Given the description of an element on the screen output the (x, y) to click on. 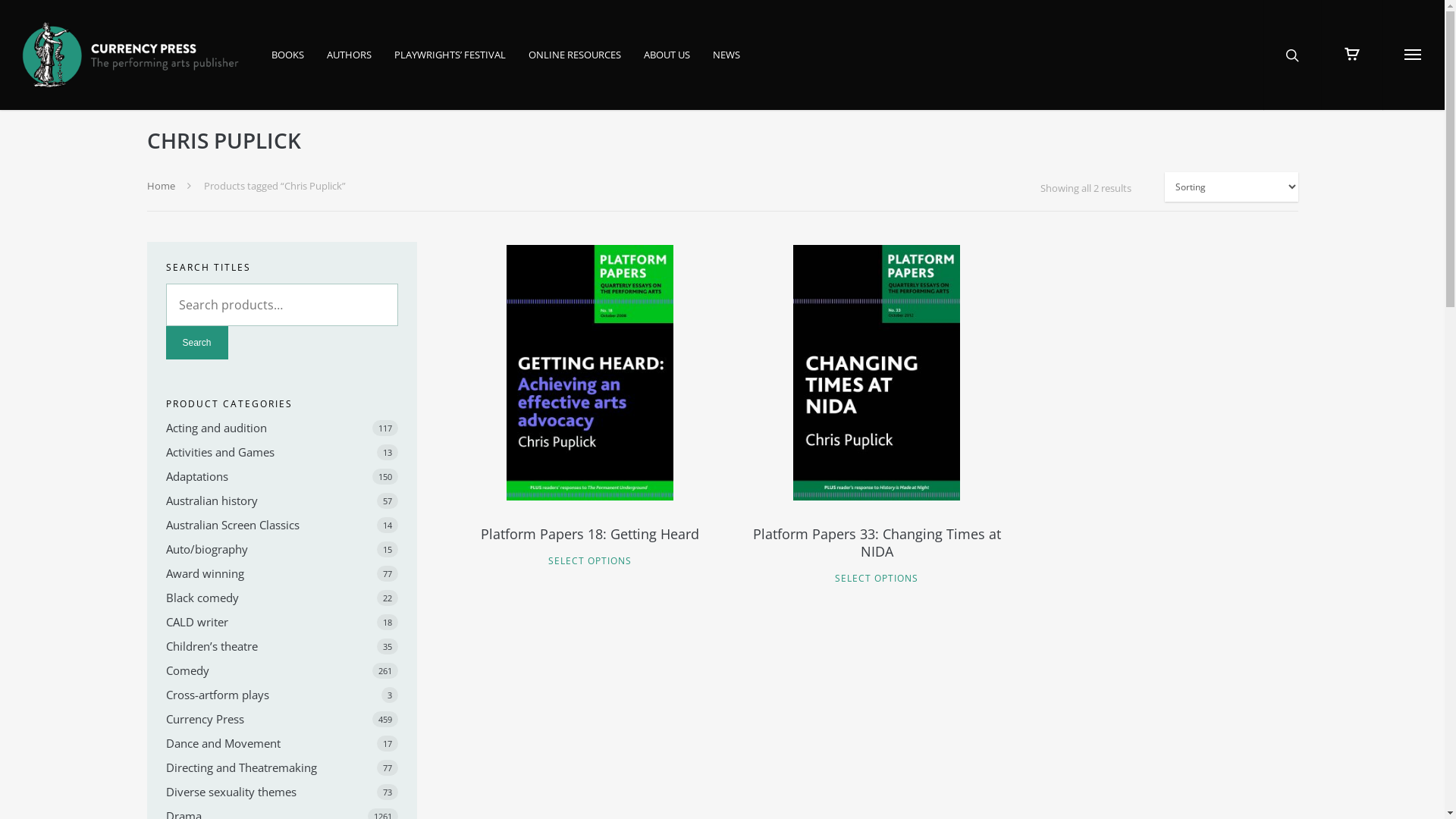
Acting and audition Element type: text (281, 427)
Platform Papers 33: Changing Times at NIDA Element type: text (875, 551)
Adaptations Element type: text (281, 475)
Search Element type: text (196, 342)
Cross-artform plays Element type: text (281, 694)
Diverse sexuality themes Element type: text (281, 791)
Home Element type: text (161, 185)
CALD writer Element type: text (281, 621)
Activities and Games Element type: text (281, 451)
Australian Screen Classics Element type: text (281, 524)
Australian history Element type: text (281, 500)
Black comedy Element type: text (281, 597)
Dance and Movement Element type: text (281, 742)
Comedy Element type: text (281, 669)
ONLINE RESOURCES Element type: text (574, 65)
AUTHORS Element type: text (348, 65)
ABOUT US Element type: text (666, 65)
NEWS Element type: text (726, 65)
SELECT OPTIONS Element type: text (589, 560)
Award winning Element type: text (281, 572)
Platform Papers 18: Getting Heard Element type: text (589, 542)
Currency Press Element type: text (281, 718)
Auto/biography Element type: text (281, 548)
SELECT OPTIONS Element type: text (876, 578)
BOOKS Element type: text (287, 65)
Directing and Theatremaking Element type: text (281, 767)
